Given the description of an element on the screen output the (x, y) to click on. 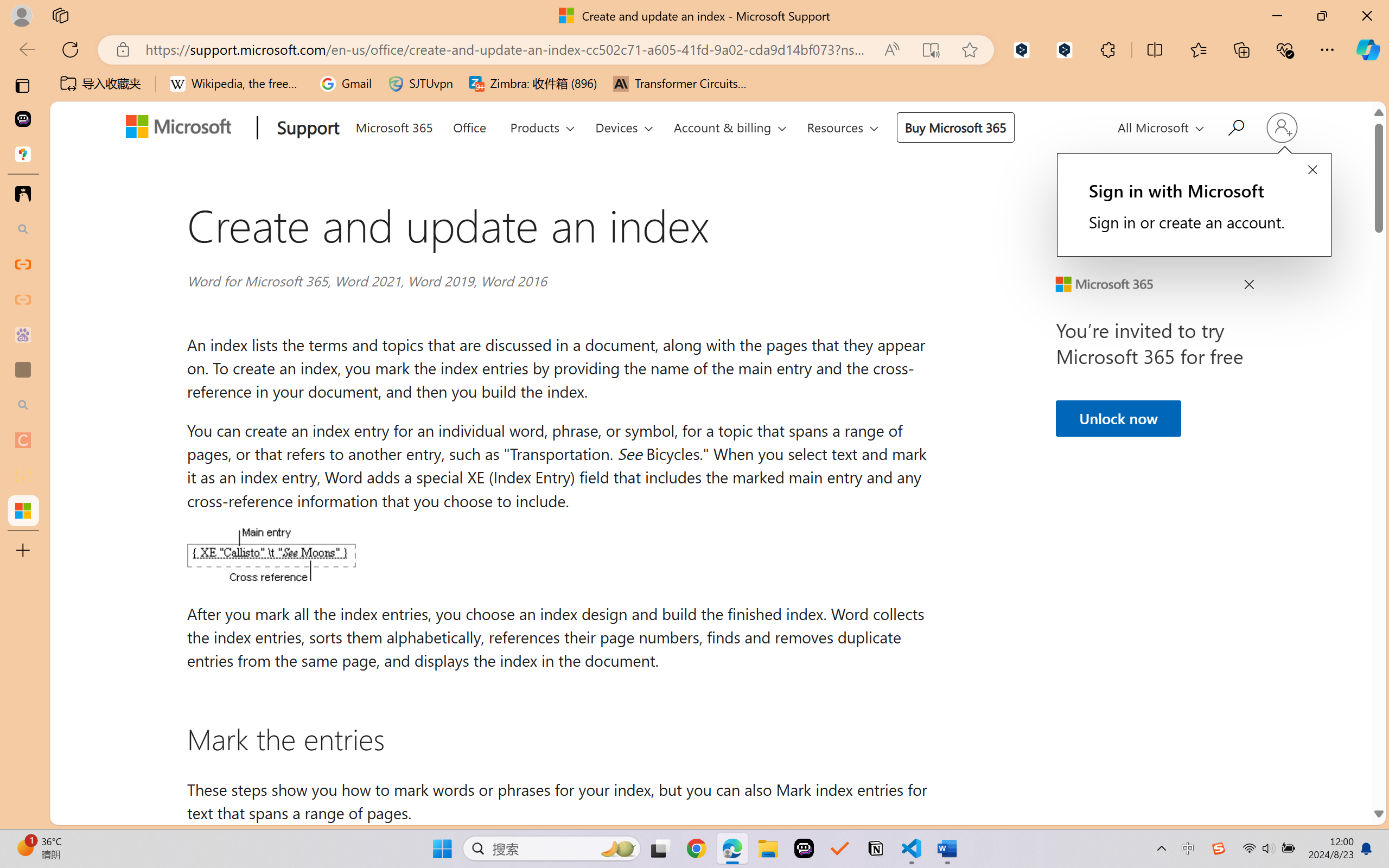
Microsoft 365 (394, 125)
Microsoft 365 (394, 125)
Close Ad (1248, 285)
Office (469, 125)
